Given the description of an element on the screen output the (x, y) to click on. 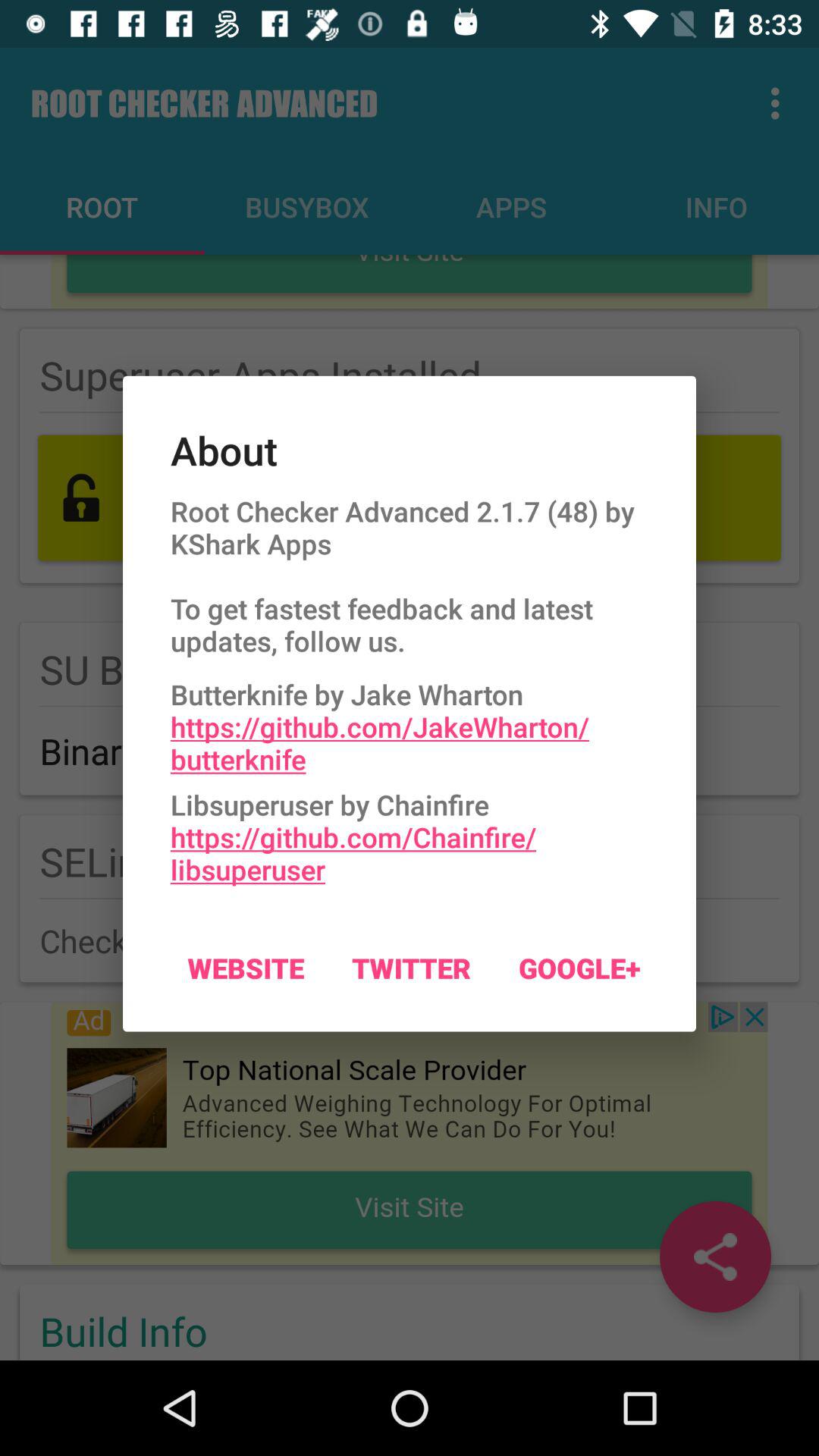
turn on the item below libsuperuser by chainfire item (411, 967)
